Given the description of an element on the screen output the (x, y) to click on. 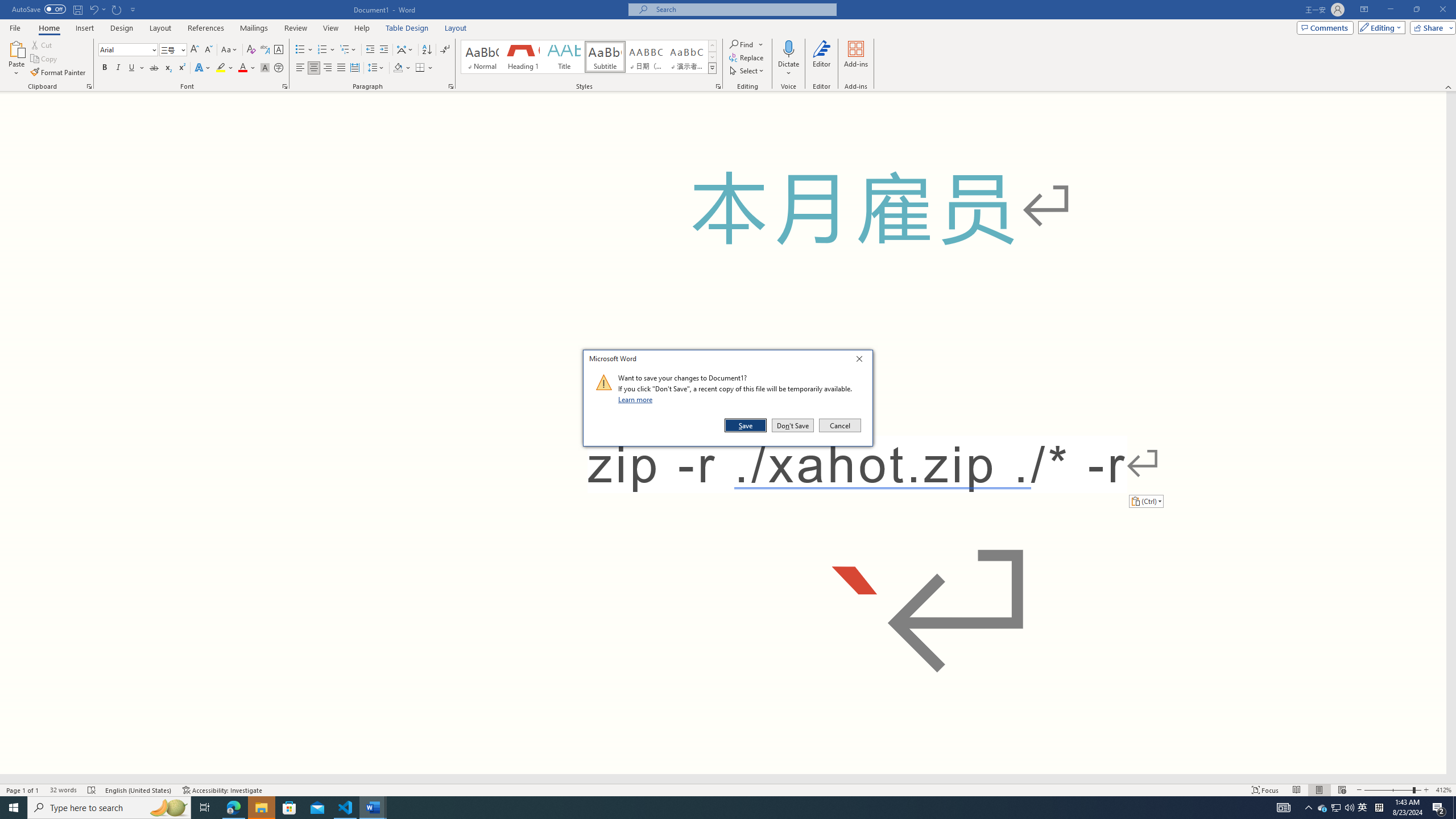
File Explorer - 1 running window (261, 807)
